Given the description of an element on the screen output the (x, y) to click on. 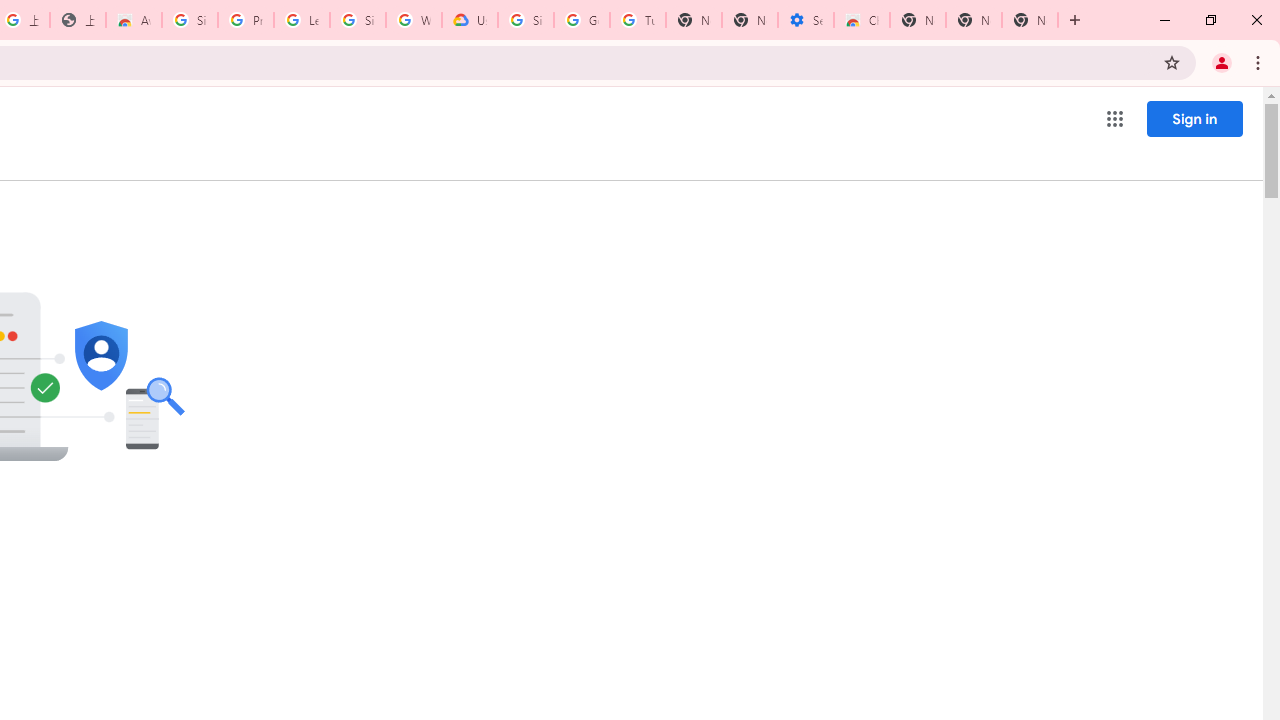
Settings - Accessibility (806, 20)
Google Account Help (582, 20)
New Tab (917, 20)
New Tab (1030, 20)
Chrome Web Store - Accessibility extensions (861, 20)
Awesome Screen Recorder & Screenshot - Chrome Web Store (134, 20)
